Given the description of an element on the screen output the (x, y) to click on. 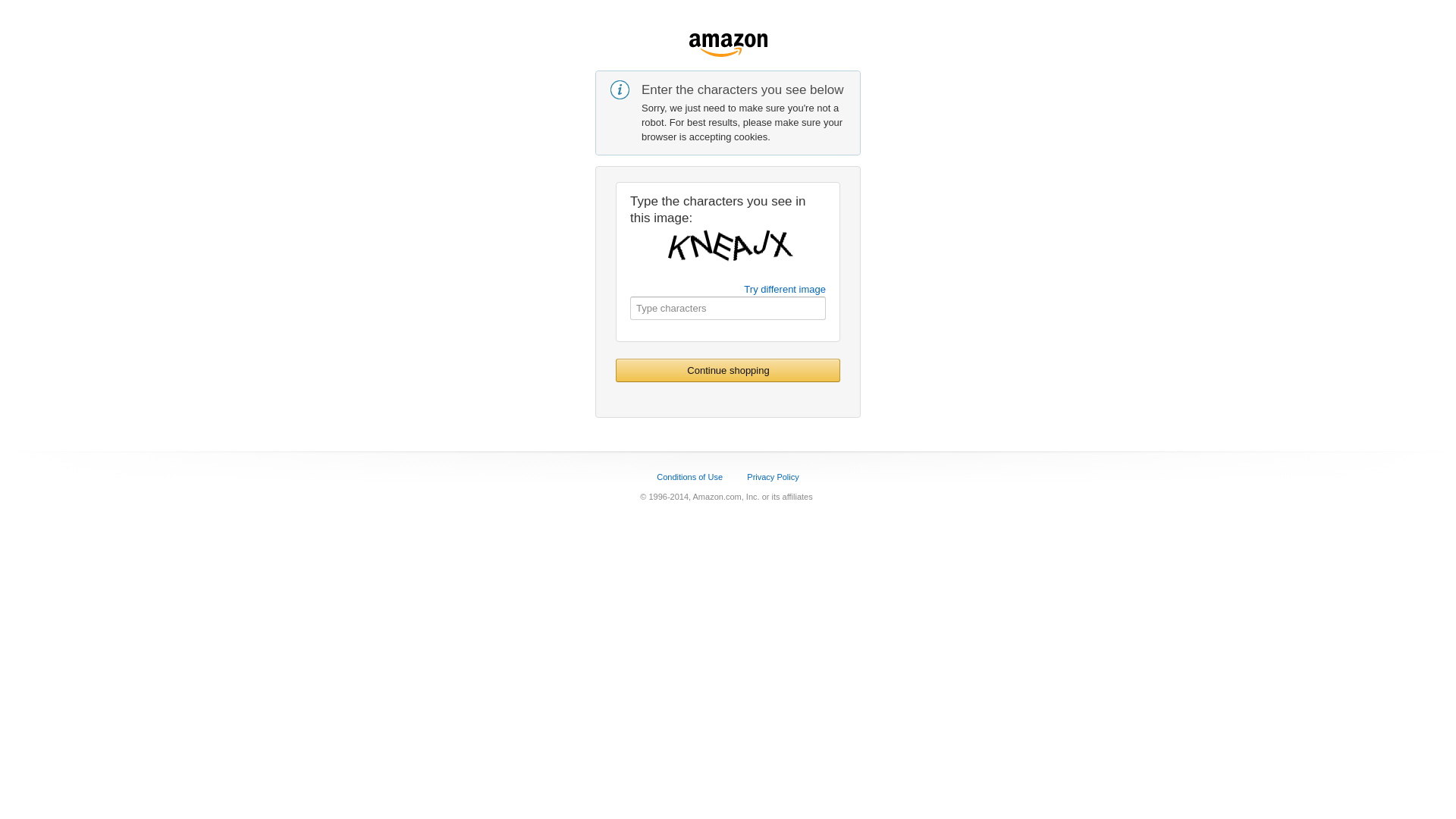
Conditions of Use Element type: text (689, 476)
Continue shopping Element type: text (727, 370)
Try different image Element type: text (784, 288)
Privacy Policy Element type: text (772, 476)
